Given the description of an element on the screen output the (x, y) to click on. 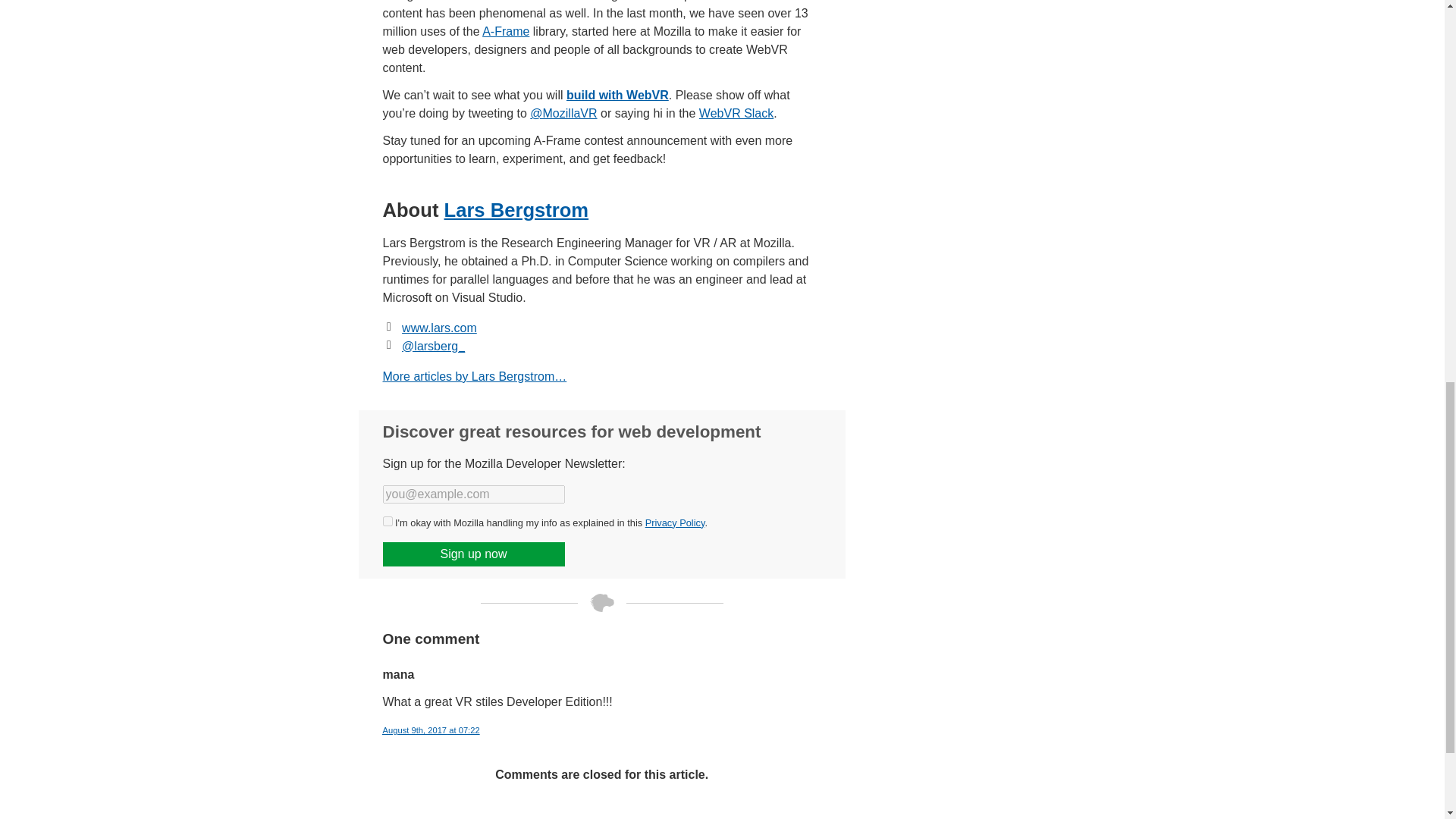
Lars Bergstrom (516, 209)
2017-08-09 (413, 729)
A-Frame (505, 31)
www.lars.com (439, 327)
on (386, 521)
Sign up now (472, 554)
WebVR Slack (735, 113)
August 9th, 2017 at 07:22 (430, 729)
Privacy Policy (674, 522)
Permanent link to this comment by mana (430, 729)
